Given the description of an element on the screen output the (x, y) to click on. 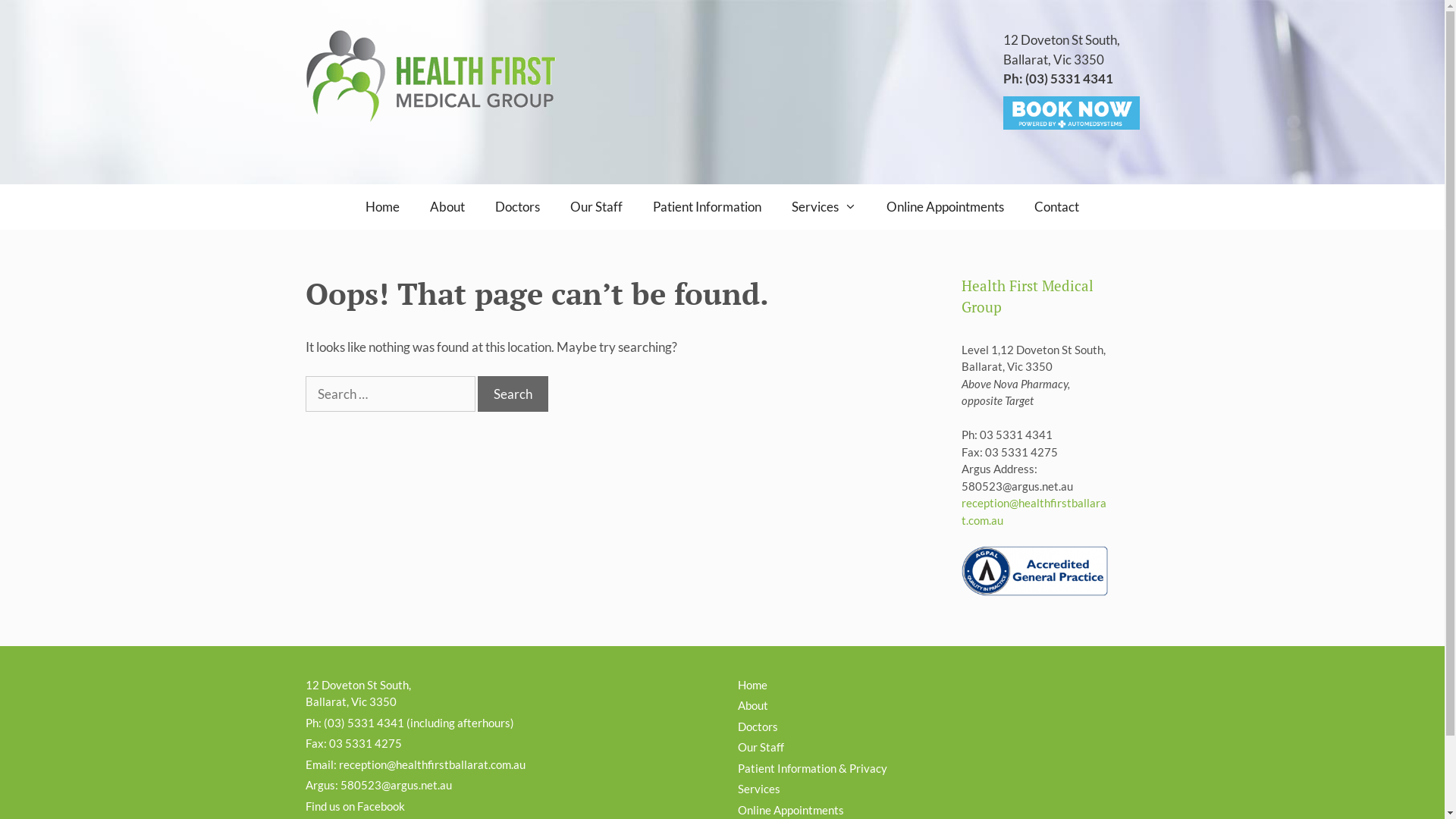
Online Appointments Element type: text (790, 809)
Home Element type: text (751, 684)
About Element type: text (752, 705)
reception@healthfirstballarat.com.au Element type: text (431, 764)
Our Staff Element type: text (596, 206)
Search for: Element type: hover (389, 394)
Patient Information & Privacy Element type: text (811, 768)
reception@healthfirstballarat.com.au Element type: text (1033, 511)
Health First Medical Group - Book Appointment Element type: hover (1070, 111)
Services Element type: text (758, 788)
Services Element type: text (824, 206)
580523@argus.net.au Element type: text (395, 784)
Patient Information Element type: text (706, 206)
Find us on Facebook Element type: text (354, 805)
About Element type: text (447, 206)
Doctors Element type: text (517, 206)
Our Staff Element type: text (760, 746)
Doctors Element type: text (757, 726)
Search Element type: text (512, 394)
Contact Element type: text (1056, 206)
Online Appointments Element type: text (945, 206)
Home Element type: text (382, 206)
